Given the description of an element on the screen output the (x, y) to click on. 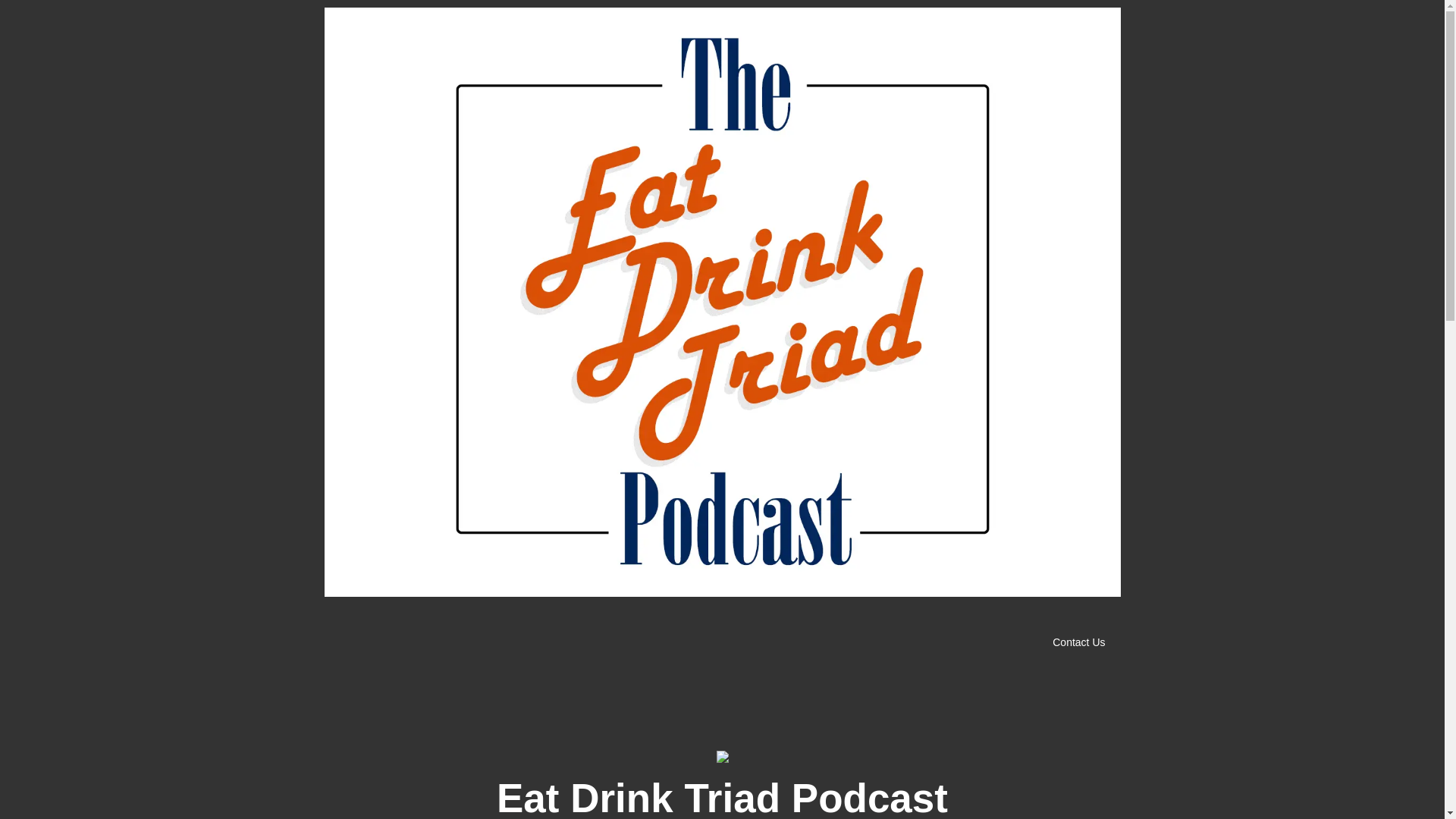
Contact Us (1085, 642)
